Given the description of an element on the screen output the (x, y) to click on. 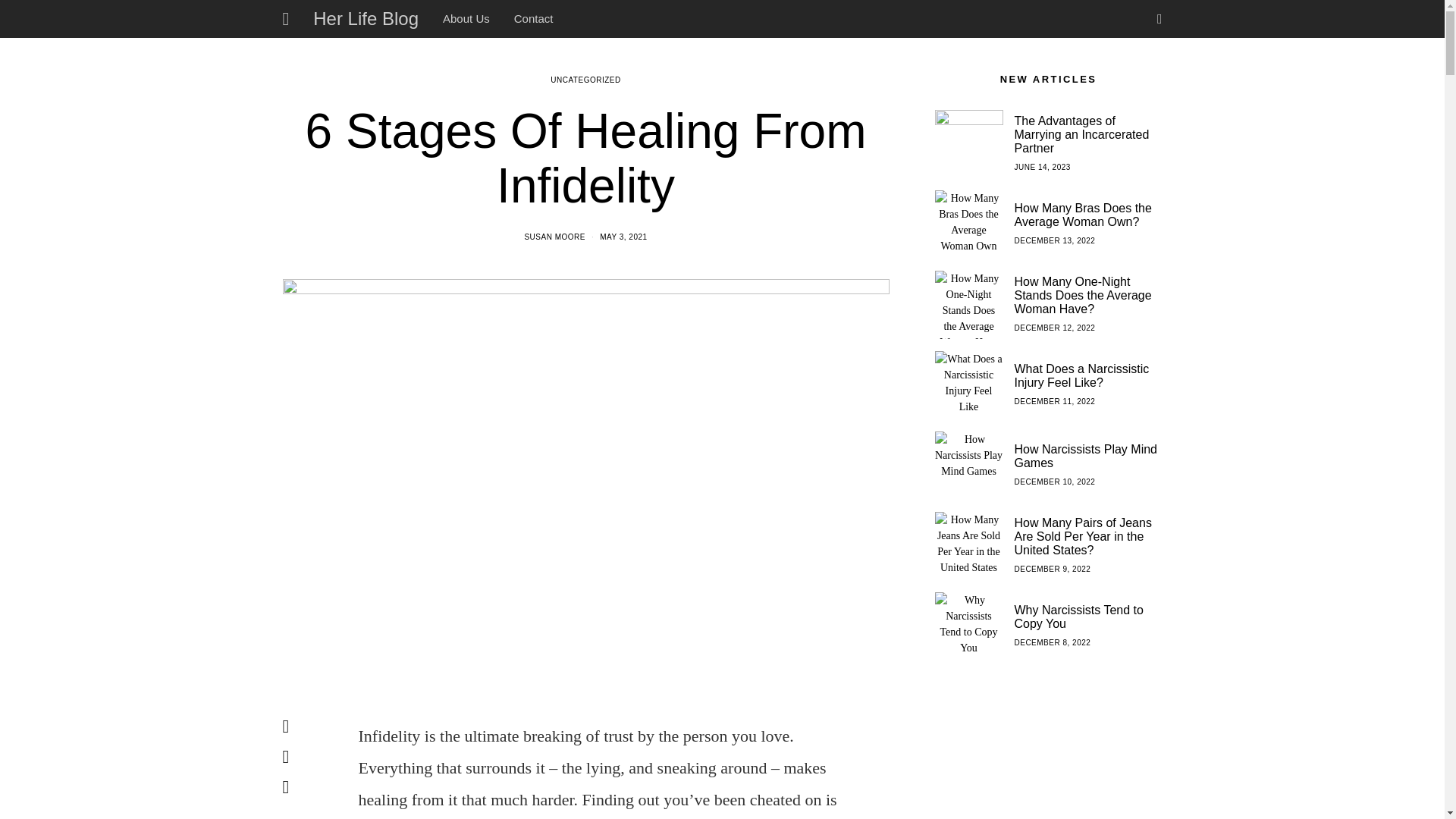
View all posts by Susan Moore (554, 236)
UNCATEGORIZED (585, 80)
About Us (465, 18)
Her Life Blog (366, 19)
SUSAN MOORE (554, 236)
MAY 3, 2021 (622, 236)
Contact (533, 18)
